Given the description of an element on the screen output the (x, y) to click on. 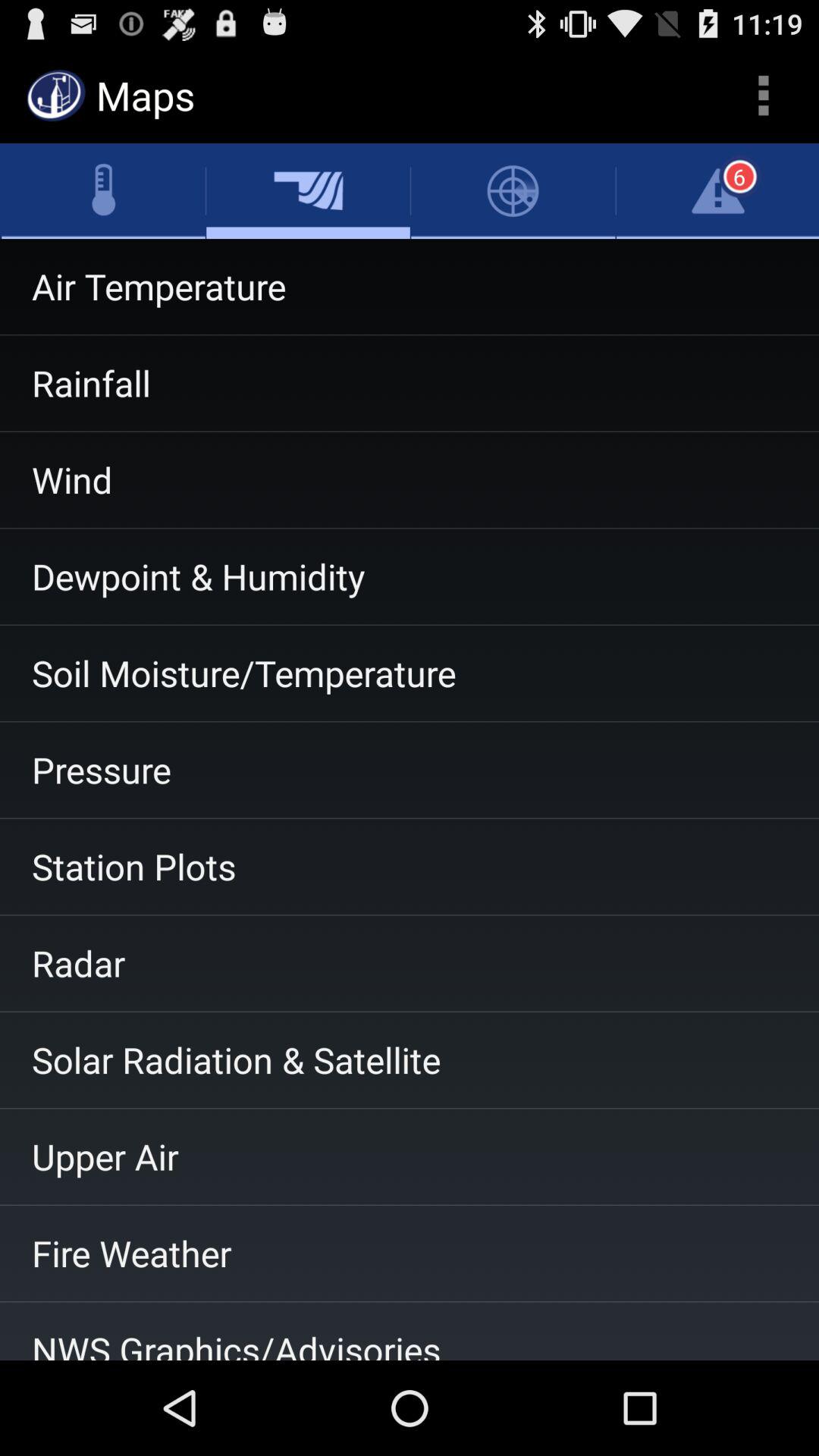
scroll until the radar app (409, 963)
